Given the description of an element on the screen output the (x, y) to click on. 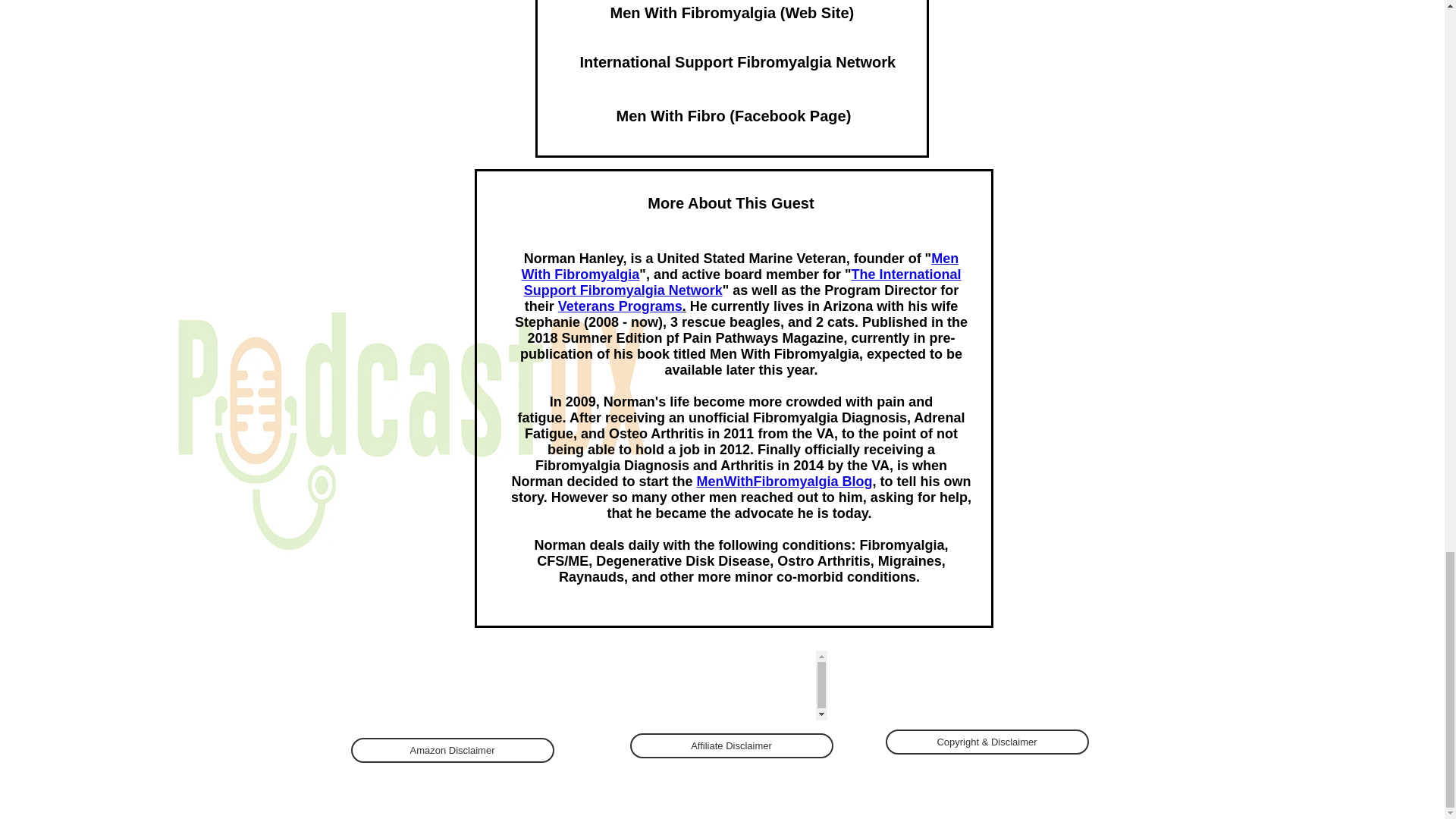
Men With Fibromyalgia (739, 265)
International Support Fibromyalgia Network (737, 61)
Embedded Content (733, 685)
